Given the description of an element on the screen output the (x, y) to click on. 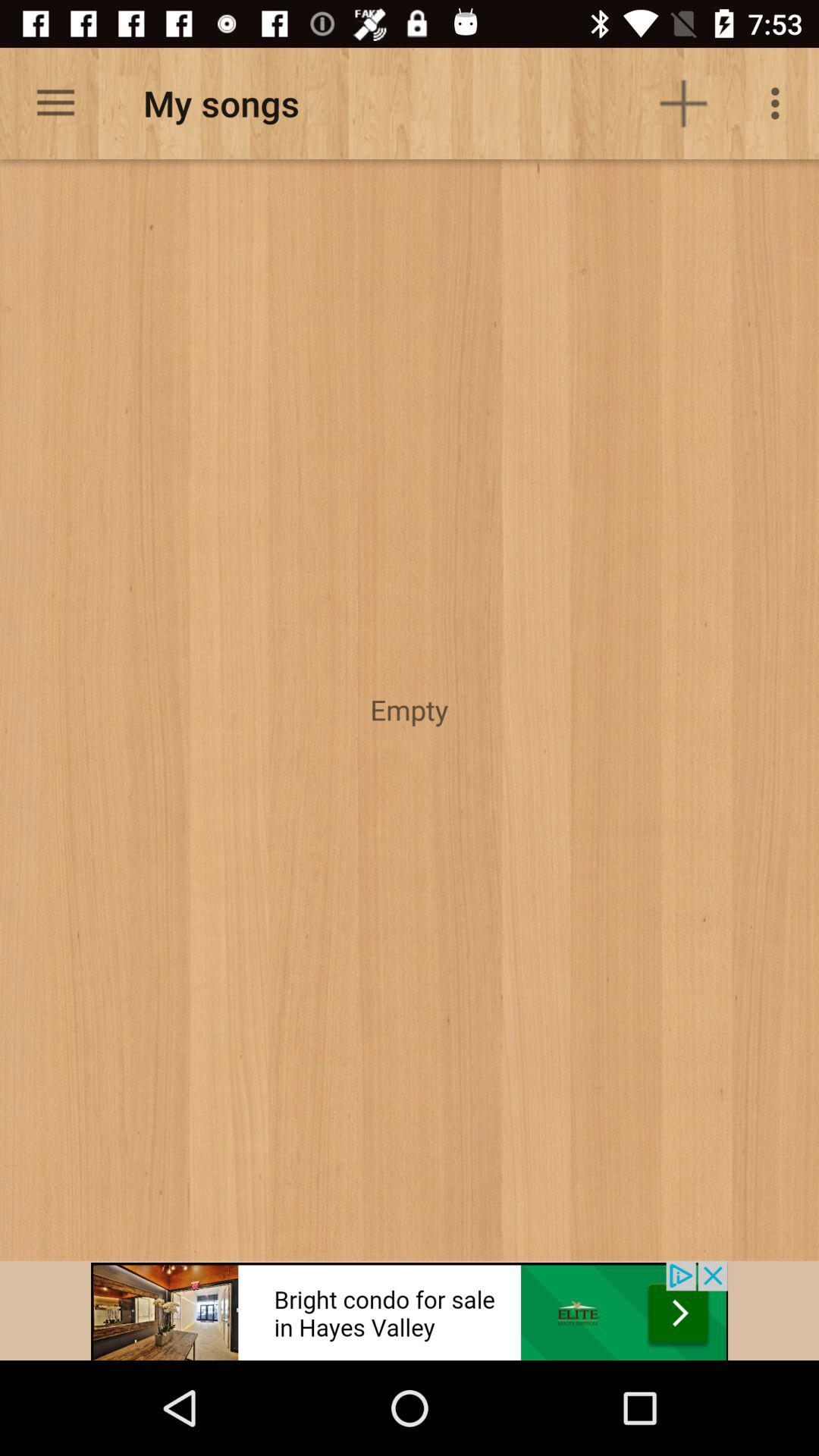
share the article (409, 1310)
